Given the description of an element on the screen output the (x, y) to click on. 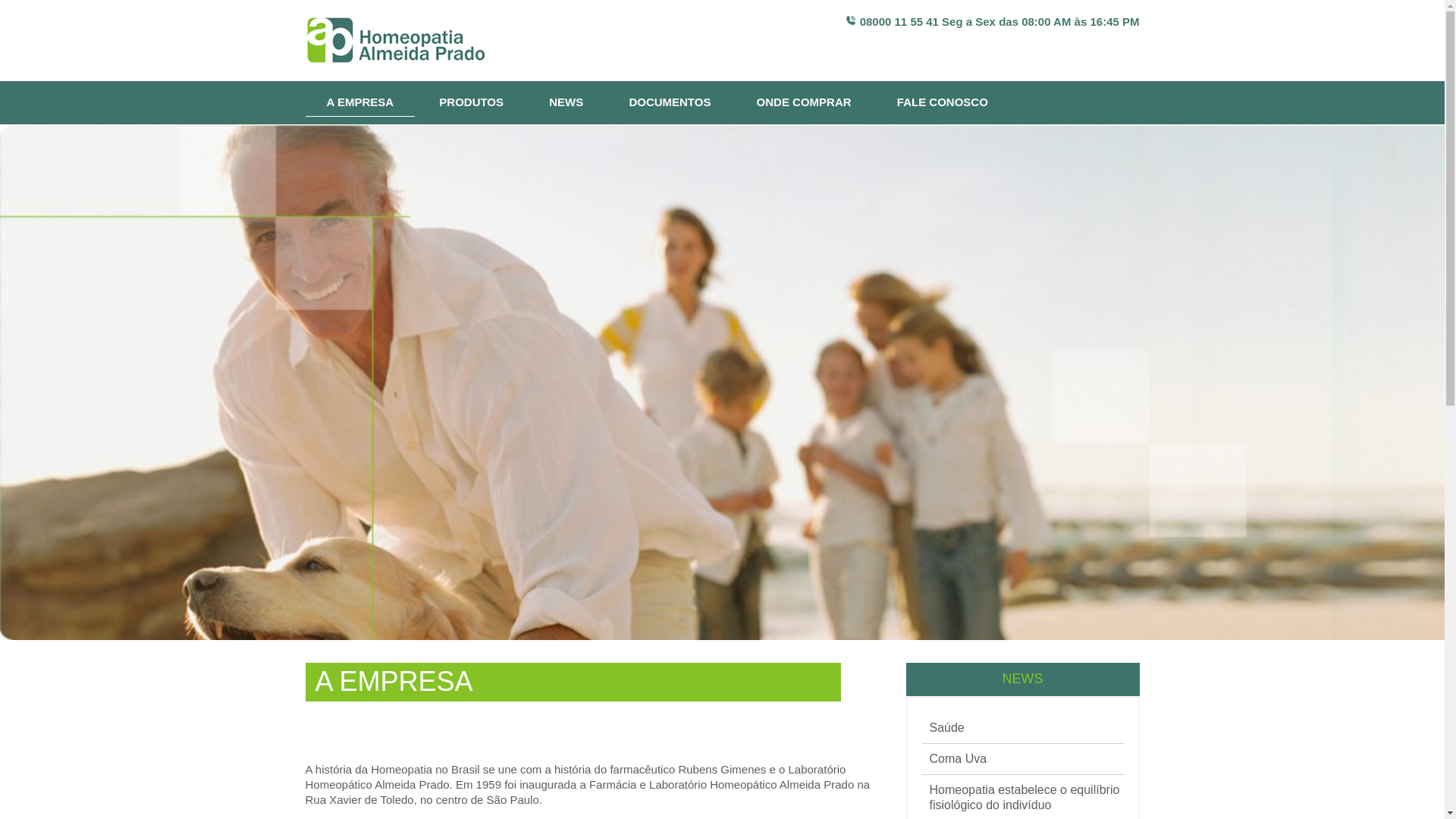
ONDE COMPRAR Element type: text (803, 102)
NEWS Element type: text (565, 102)
A EMPRESA Element type: text (359, 98)
Coma Uva Element type: text (958, 758)
FALE CONOSCO Element type: text (942, 102)
PRODUTOS Element type: text (470, 102)
DOCUMENTOS Element type: text (669, 102)
